Given the description of an element on the screen output the (x, y) to click on. 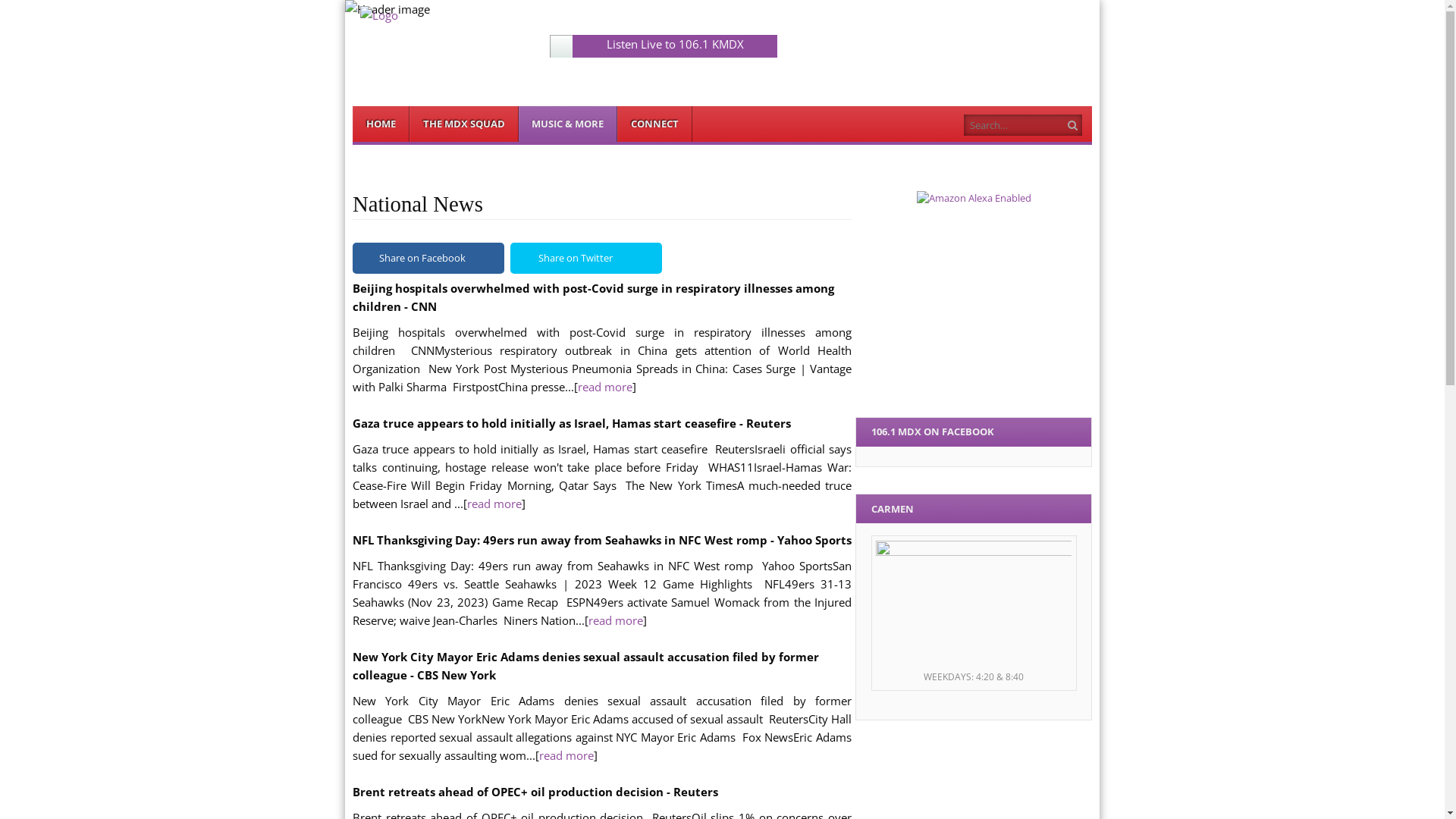
read more Element type: text (494, 503)
  Element type: text (560, 45)
read more Element type: text (615, 619)
Skip to content Element type: text (386, 113)
MUSIC & MORE Element type: text (568, 123)
read more Element type: text (566, 754)
Listen Live to 106.1 KMDX Element type: text (674, 43)
HOME Element type: text (380, 123)
read more Element type: text (604, 386)
Share on Twitter Element type: text (586, 257)
THE MDX SQUAD Element type: text (463, 123)
Share on Facebook Element type: text (428, 257)
CONNECT Element type: text (654, 123)
Go Element type: text (1074, 125)
